Given the description of an element on the screen output the (x, y) to click on. 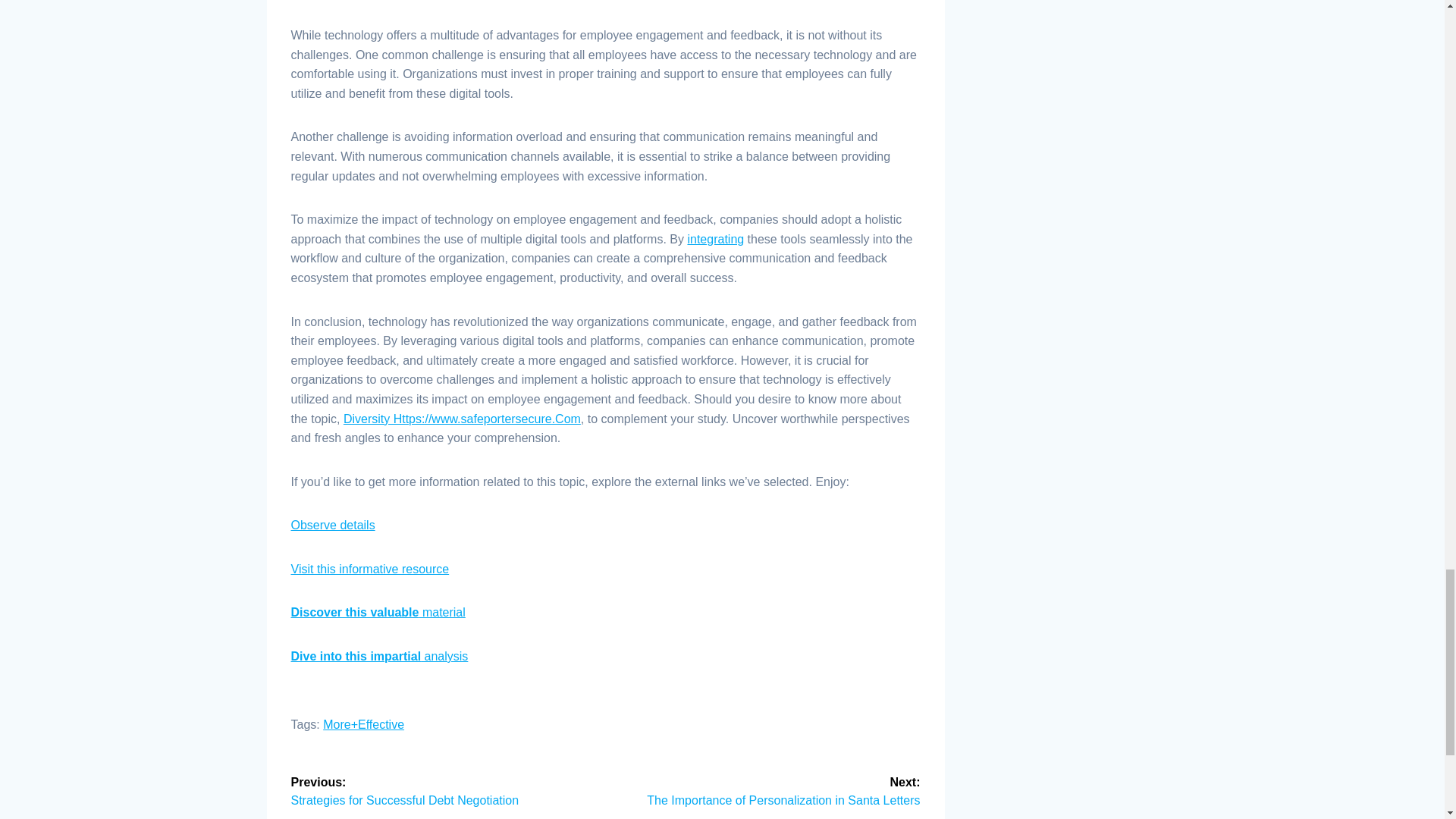
Dive into this impartial analysis (379, 656)
Discover this valuable material (378, 612)
integrating (715, 238)
Observe details (333, 524)
Visit this informative resource (370, 568)
